Given the description of an element on the screen output the (x, y) to click on. 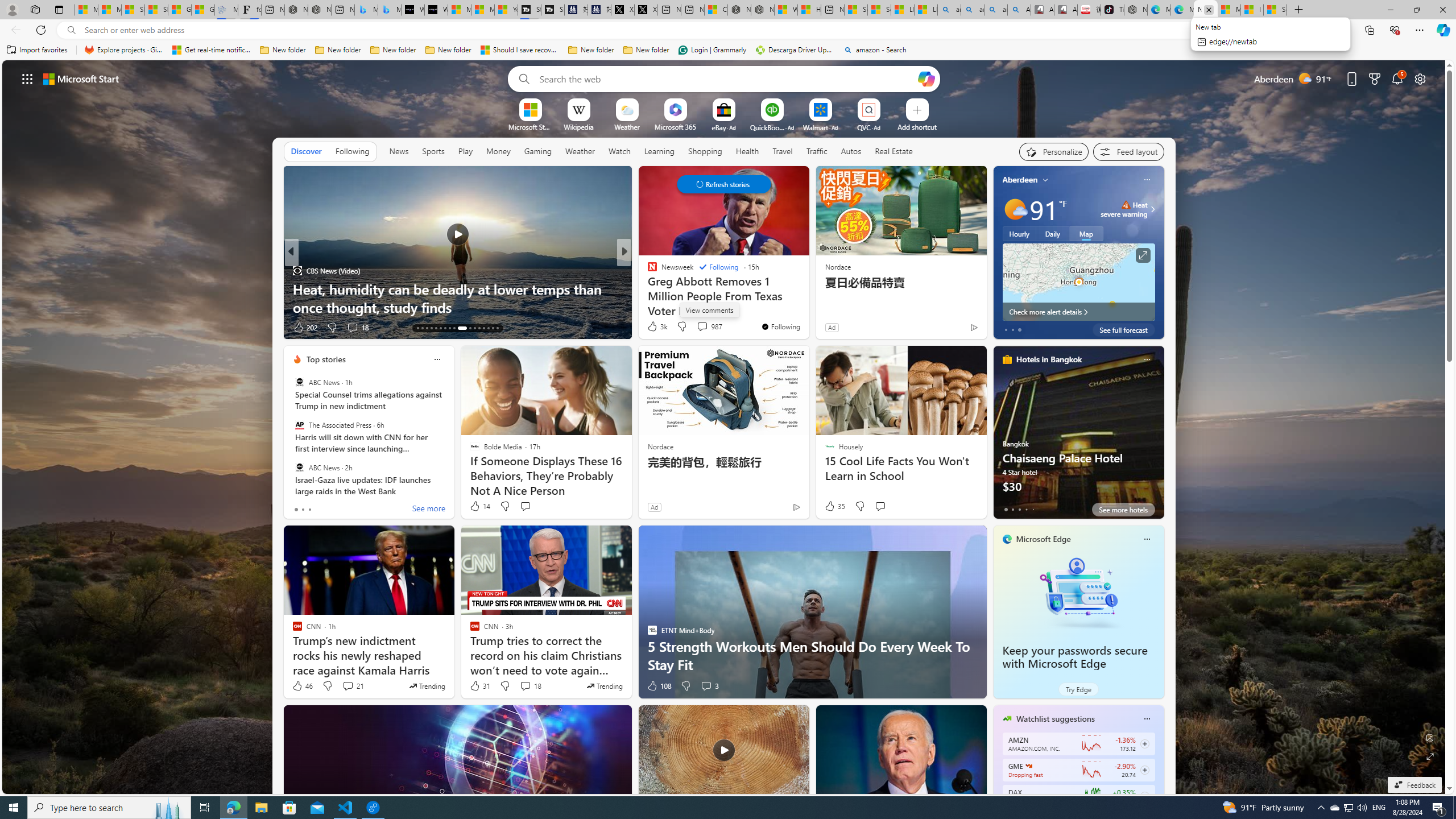
Microsoft Bing Travel - Stays in Bangkok, Bangkok, Thailand (365, 9)
What's the best AI voice generator? - voice.ai (435, 9)
Discover (306, 151)
Back (13, 29)
You're following FOX News (949, 329)
Heat - Severe (1126, 204)
Shanghai, China weather forecast | Microsoft Weather (156, 9)
Watch (619, 151)
Personal Profile (12, 9)
Larger map  (1077, 282)
Microsoft start (81, 78)
View comments 1 Comment (702, 327)
New tab (1205, 9)
